Given the description of an element on the screen output the (x, y) to click on. 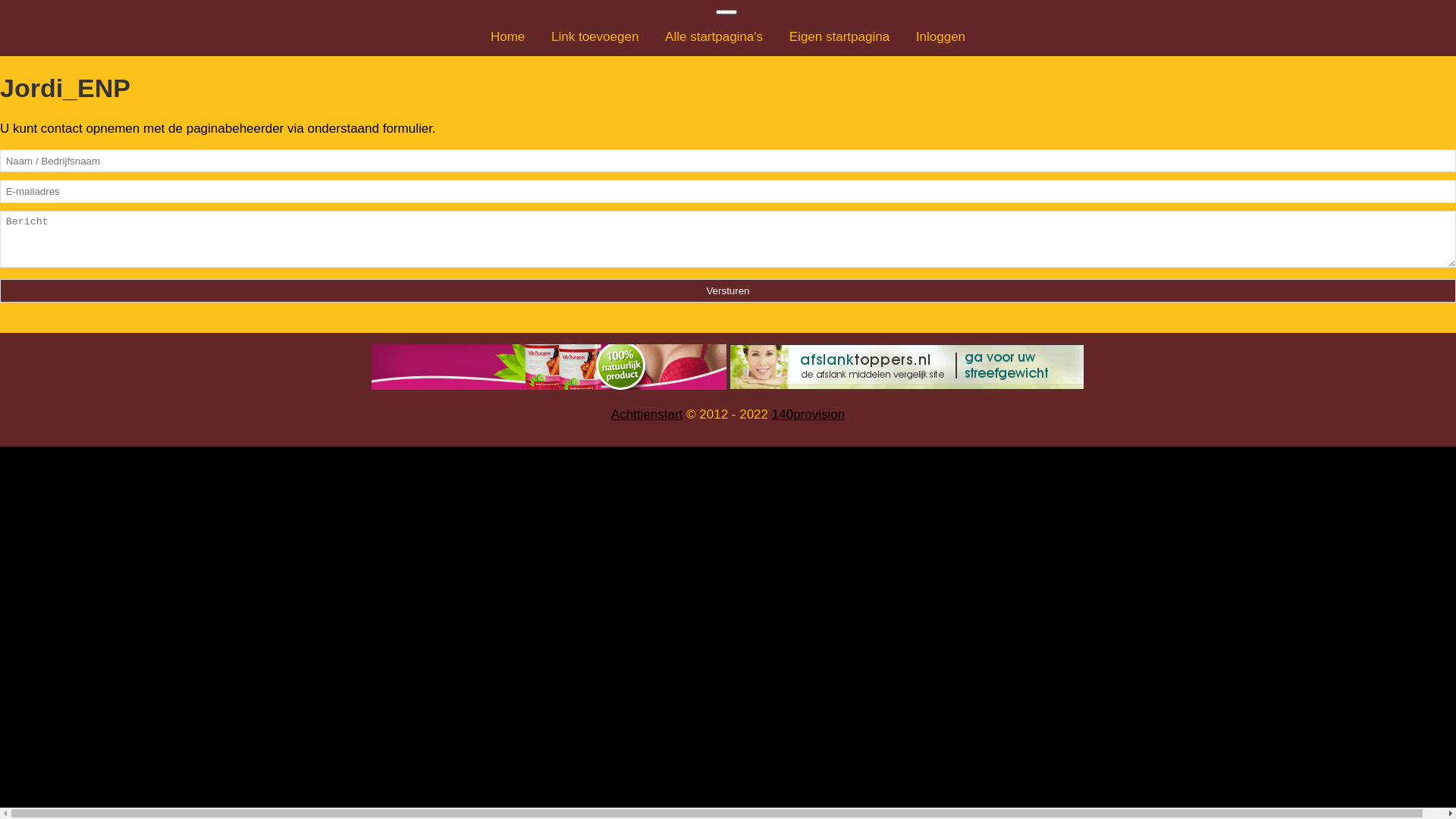
Achttienstart Element type: text (647, 414)
Home Element type: text (507, 36)
Link toevoegen Element type: text (594, 36)
Inloggen Element type: text (940, 36)
De beste afslankmiddelen op een site Element type: hover (906, 366)
Alle startpagina's Element type: text (713, 36)
Stevige grote borsten in 20 dagen Element type: hover (548, 366)
Eigen startpagina Element type: text (839, 36)
140provision Element type: text (807, 414)
